Given the description of an element on the screen output the (x, y) to click on. 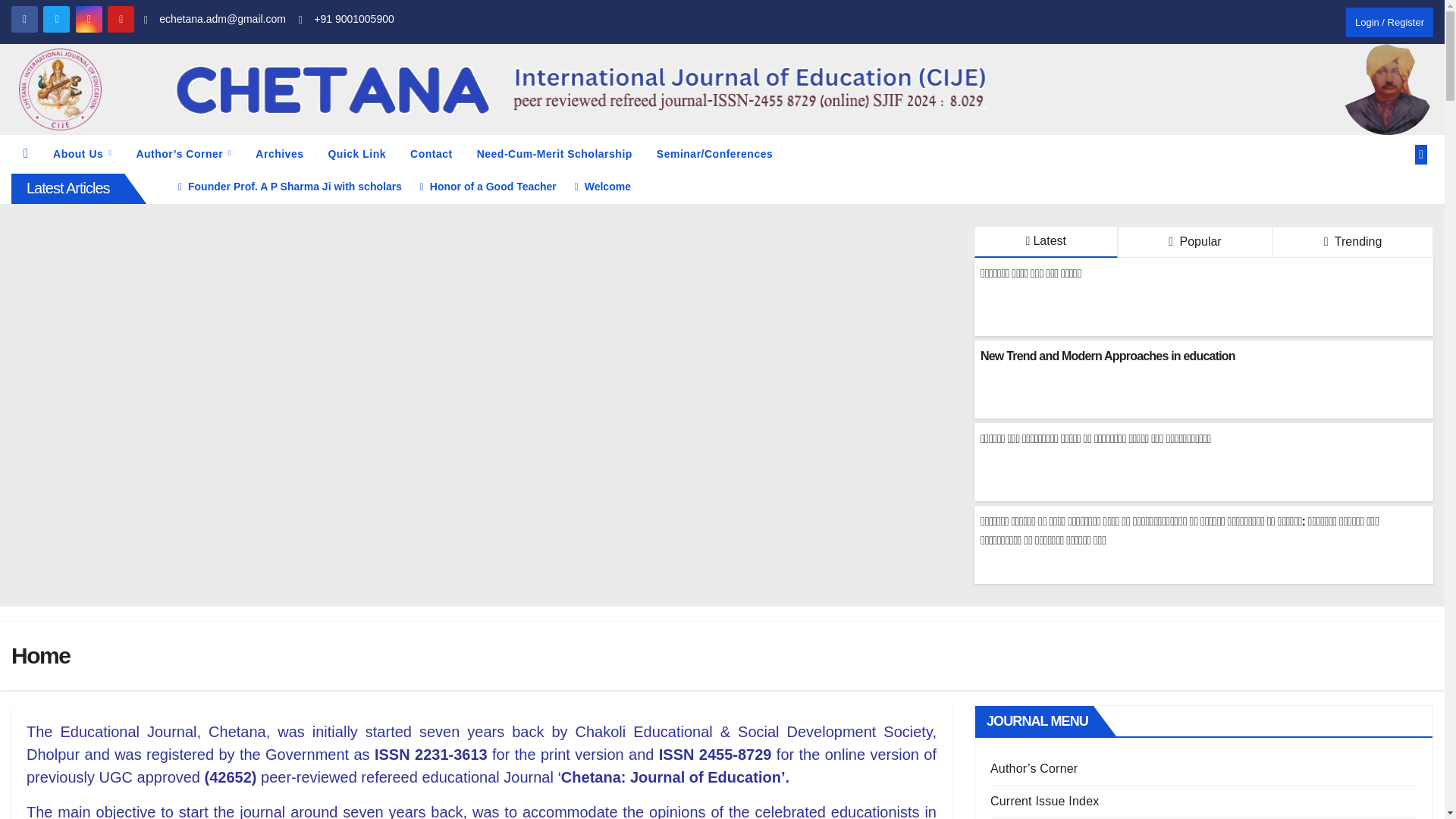
Contact (430, 154)
About us (81, 154)
Archives (279, 154)
Quick Link (356, 154)
About Us (81, 154)
